Given the description of an element on the screen output the (x, y) to click on. 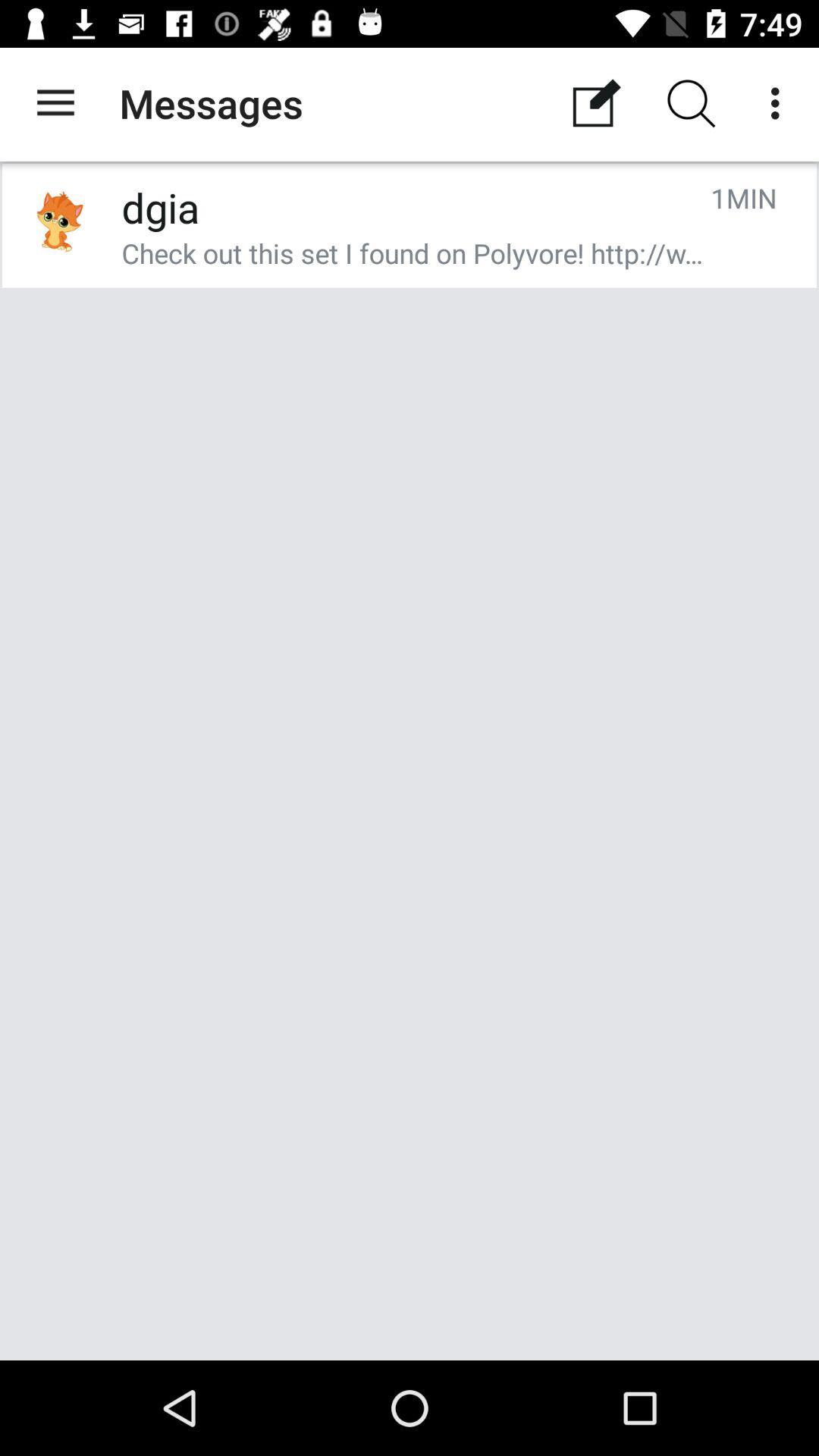
tap the icon next to messages icon (55, 103)
